Given the description of an element on the screen output the (x, y) to click on. 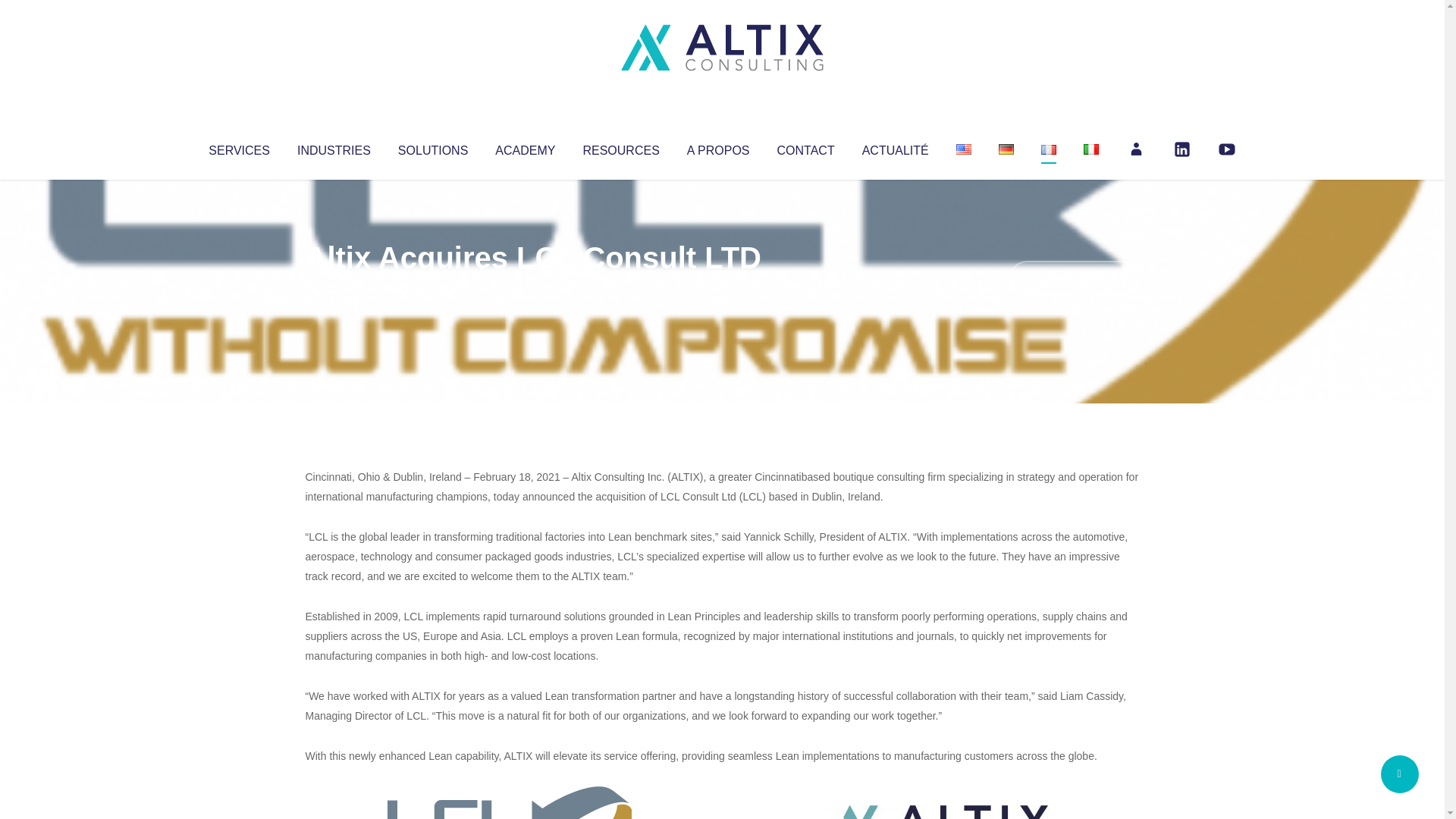
Articles par Altix (333, 287)
A PROPOS (718, 146)
Altix (333, 287)
INDUSTRIES (334, 146)
RESOURCES (620, 146)
No Comments (1073, 278)
ACADEMY (524, 146)
SOLUTIONS (432, 146)
SERVICES (238, 146)
Uncategorized (530, 287)
